Given the description of an element on the screen output the (x, y) to click on. 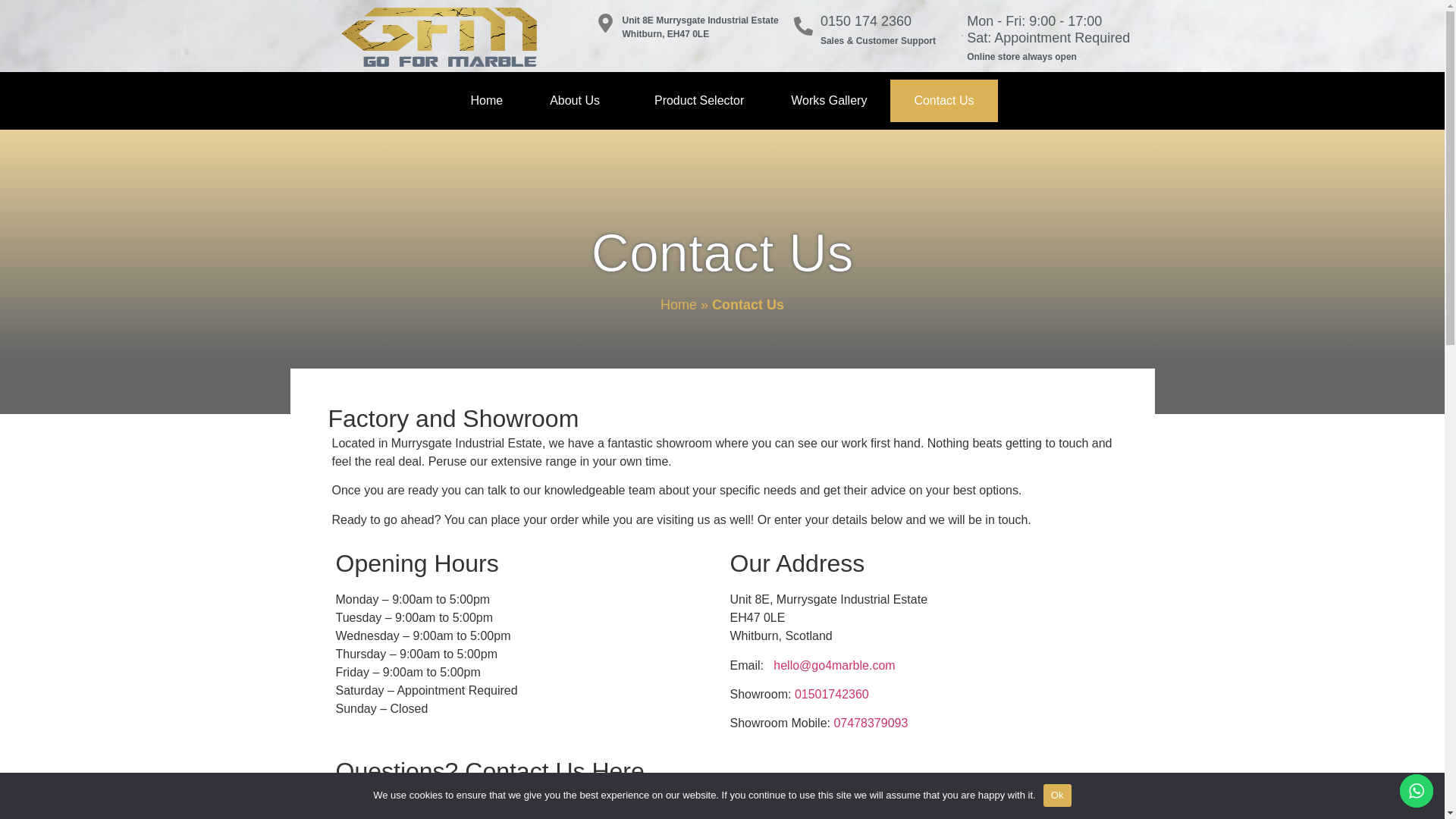
Contact Us (943, 100)
Product Selector (698, 100)
07478379093 (869, 722)
About Us (577, 100)
01501742360 (831, 694)
Home (679, 304)
No (1425, 795)
Works Gallery (828, 100)
Home (485, 100)
